Given the description of an element on the screen output the (x, y) to click on. 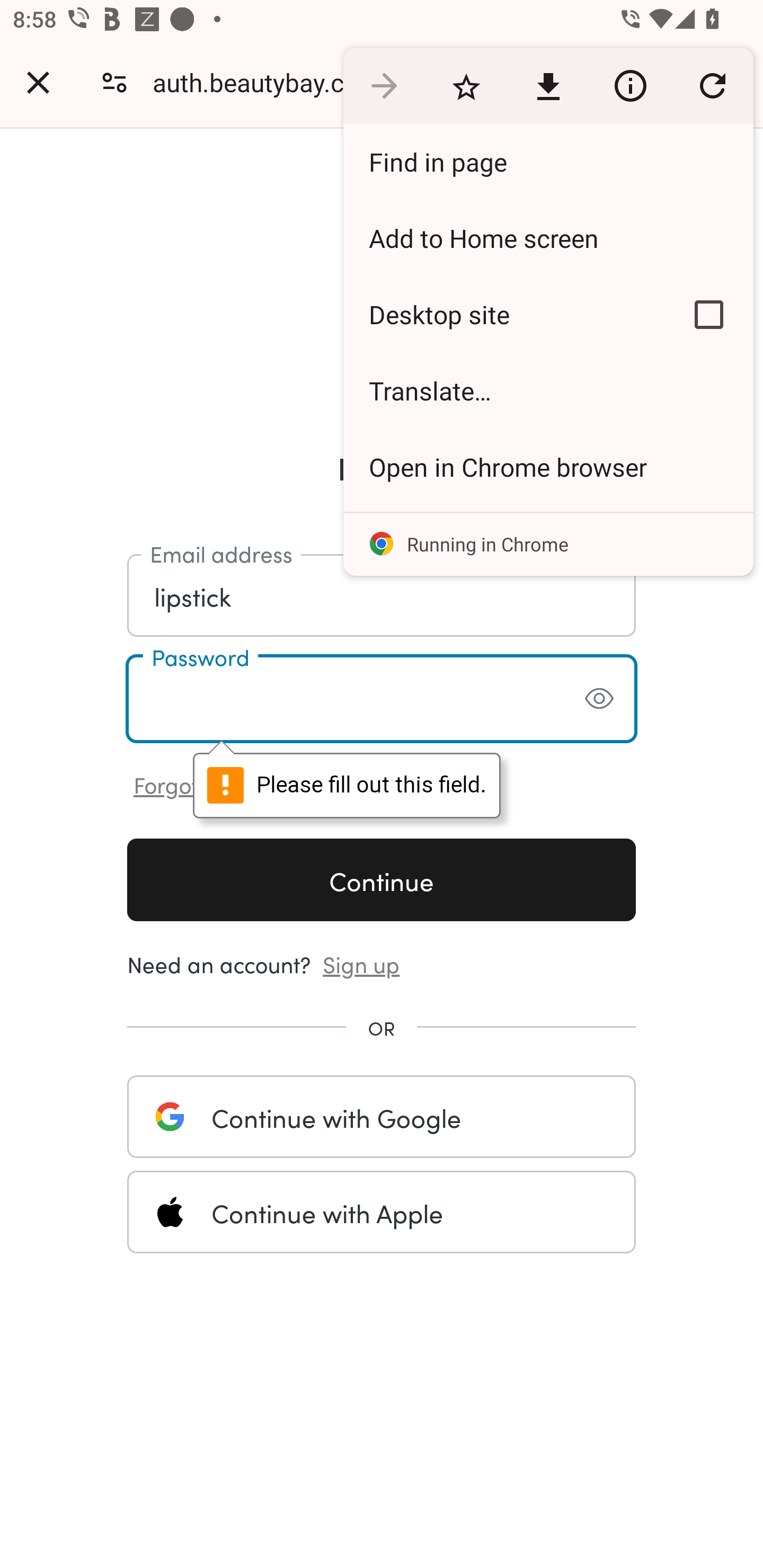
Go forward (383, 85)
Bookmark (465, 85)
Download this page (548, 85)
View site information (630, 85)
Refresh (712, 85)
Find in page (548, 161)
Add to Home screen (548, 237)
Desktop site Turn on Request desktop site (503, 313)
Translate… (548, 390)
Open in Chrome browser (548, 466)
